Given the description of an element on the screen output the (x, y) to click on. 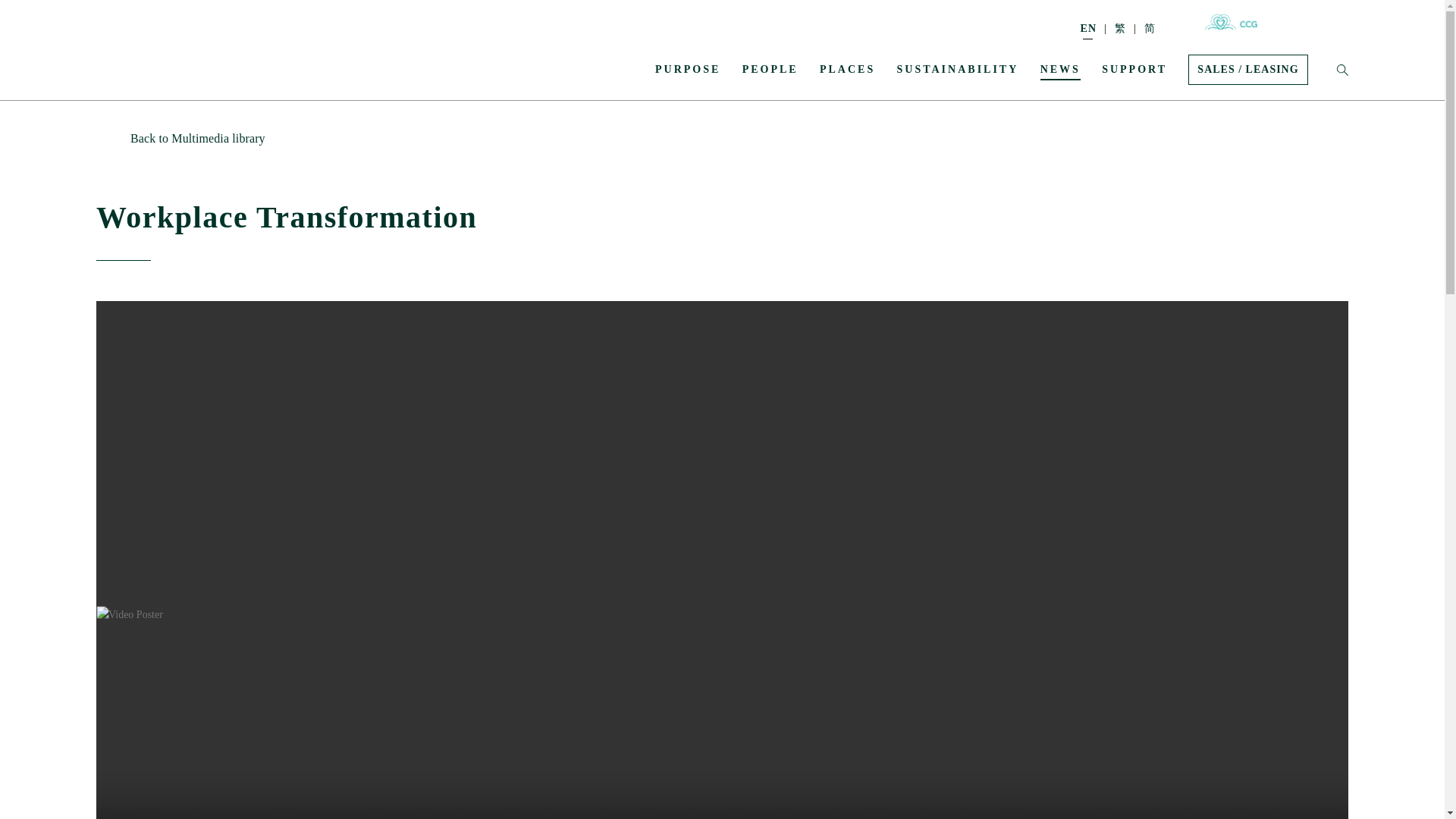
NEWS (1060, 68)
PLACES (847, 68)
SUSTAINABILITY (957, 68)
PURPOSE (687, 68)
PEOPLE (769, 68)
EN (1097, 28)
